Given the description of an element on the screen output the (x, y) to click on. 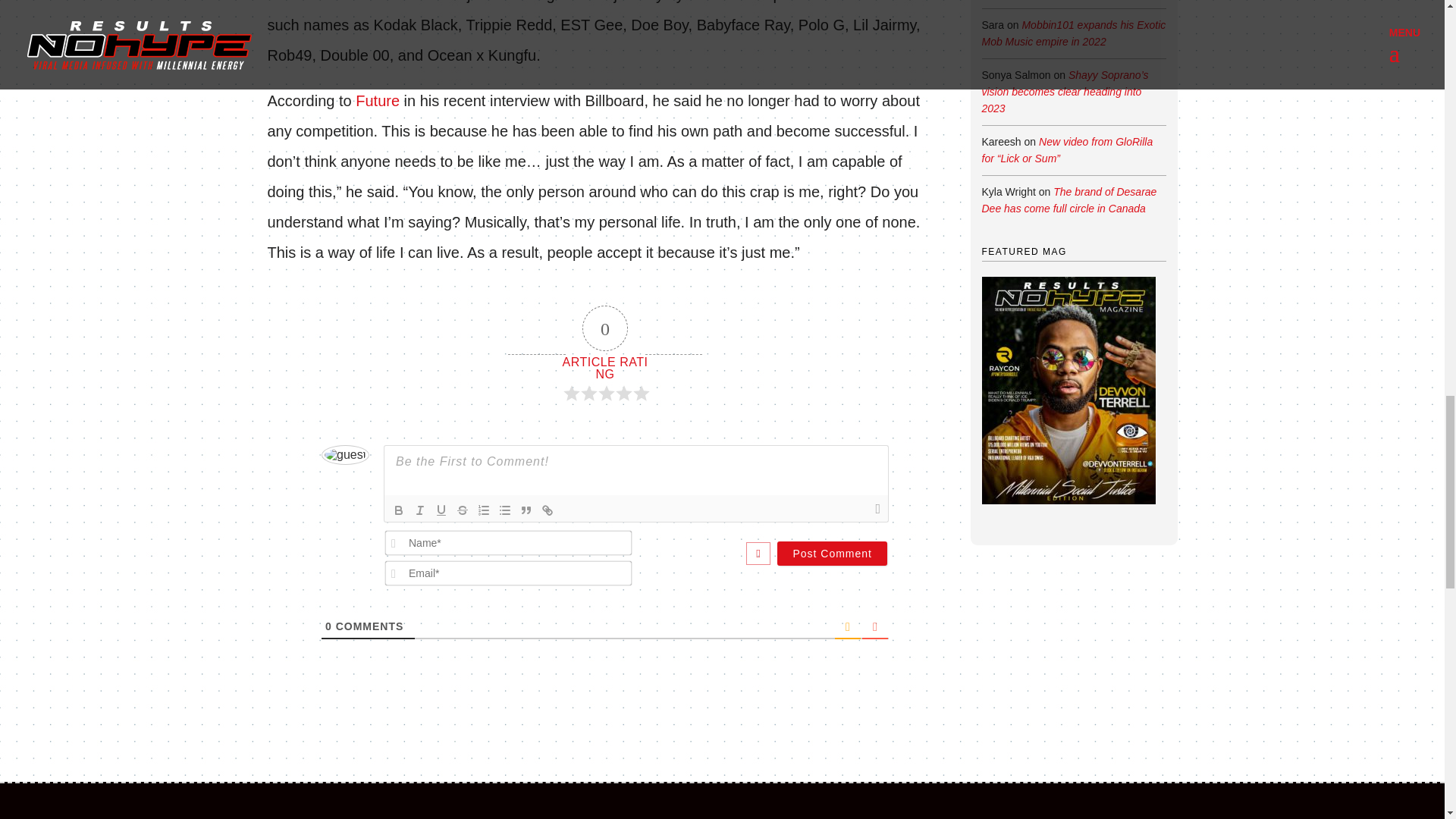
Unordered List (505, 510)
Strike (462, 510)
Bold (398, 510)
Italic (419, 510)
Ordered List (484, 510)
Post Comment (831, 553)
Future (379, 100)
Link (547, 510)
Blockquote (526, 510)
Underline (440, 510)
